Given the description of an element on the screen output the (x, y) to click on. 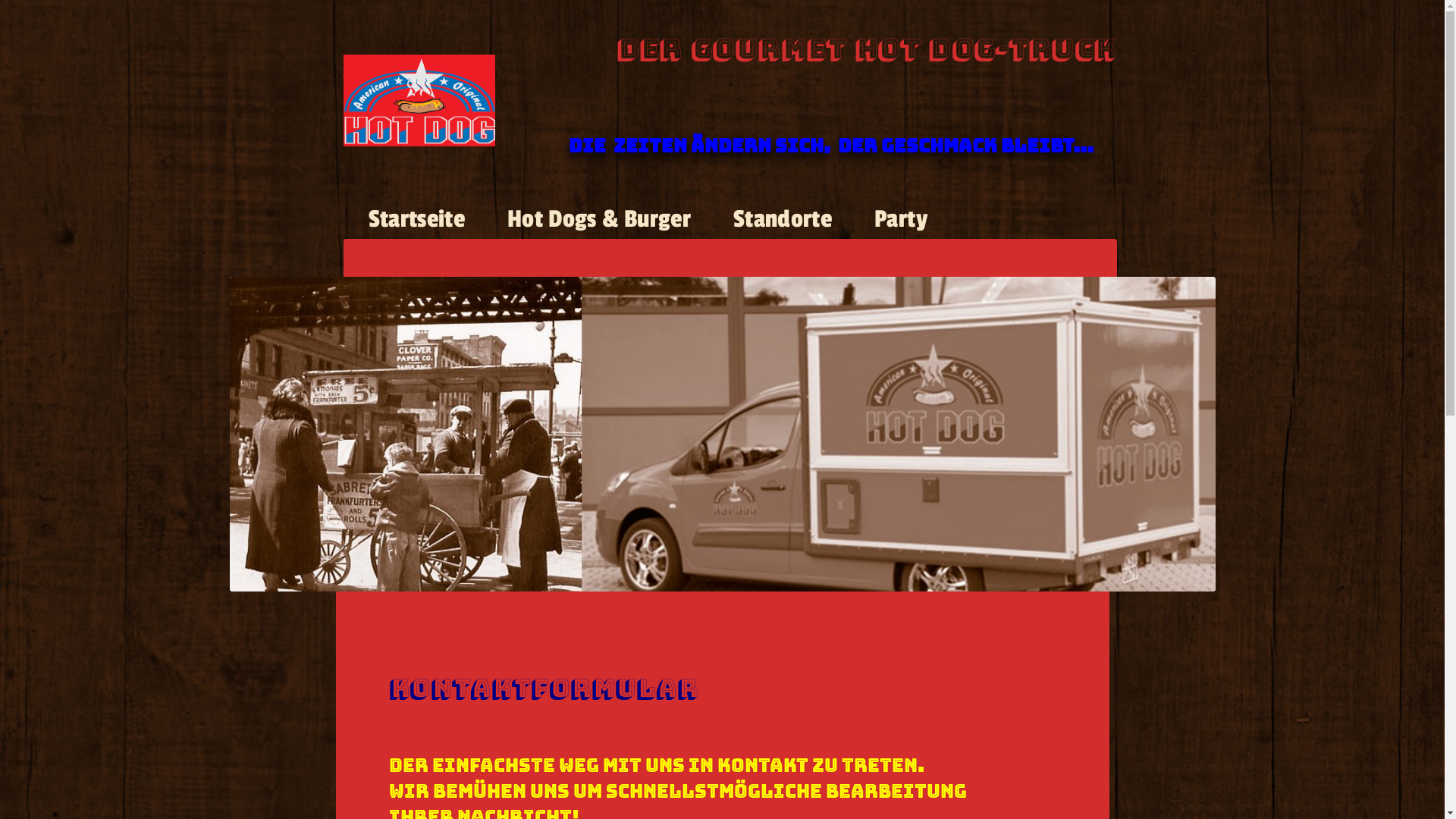
Firmenanlass Element type: text (432, 276)
Hot Dogs & Burger Element type: text (598, 223)
Startseite Element type: text (416, 223)
Party Element type: text (900, 223)
Events Element type: text (571, 276)
Kontakt Element type: text (685, 276)
Standorte Element type: text (782, 223)
